Given the description of an element on the screen output the (x, y) to click on. 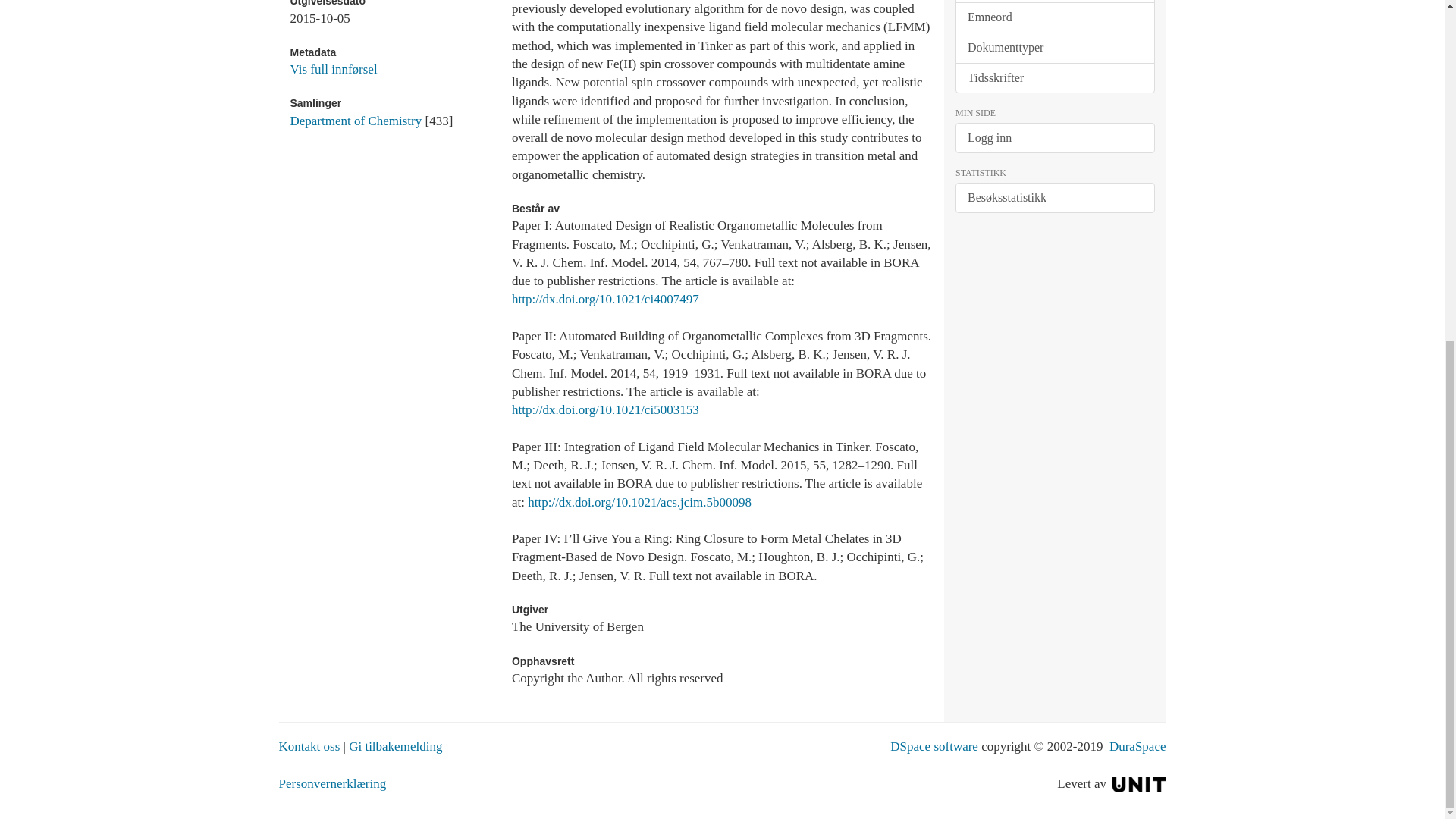
Department of Chemistry (355, 120)
Unit (1139, 783)
